Given the description of an element on the screen output the (x, y) to click on. 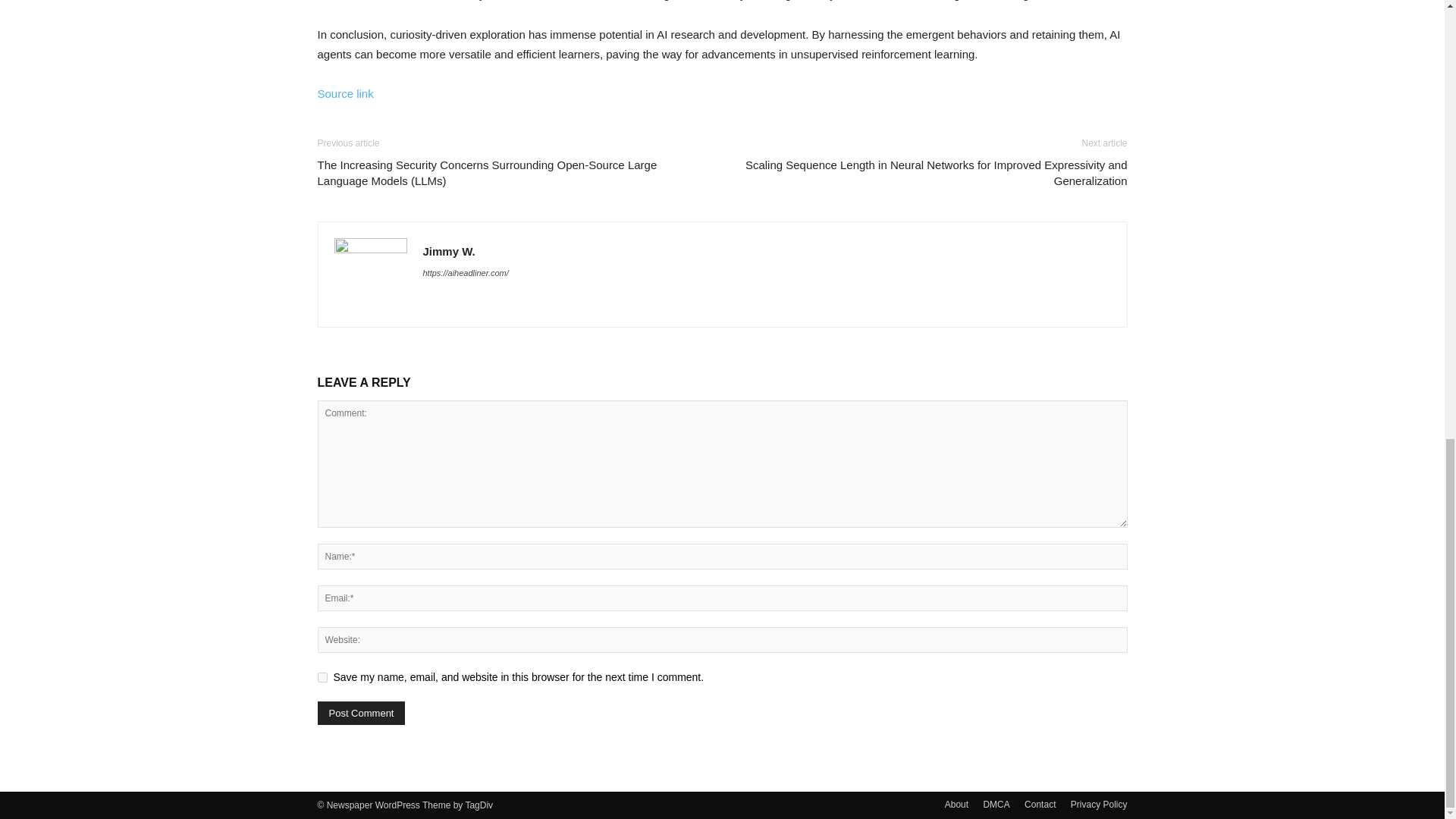
Privacy Policy (1098, 804)
Source link (344, 92)
Post Comment (360, 712)
Post Comment (360, 712)
yes (321, 677)
Contact (1040, 804)
About (956, 804)
DMCA (995, 804)
Jimmy W. (449, 250)
